Given the description of an element on the screen output the (x, y) to click on. 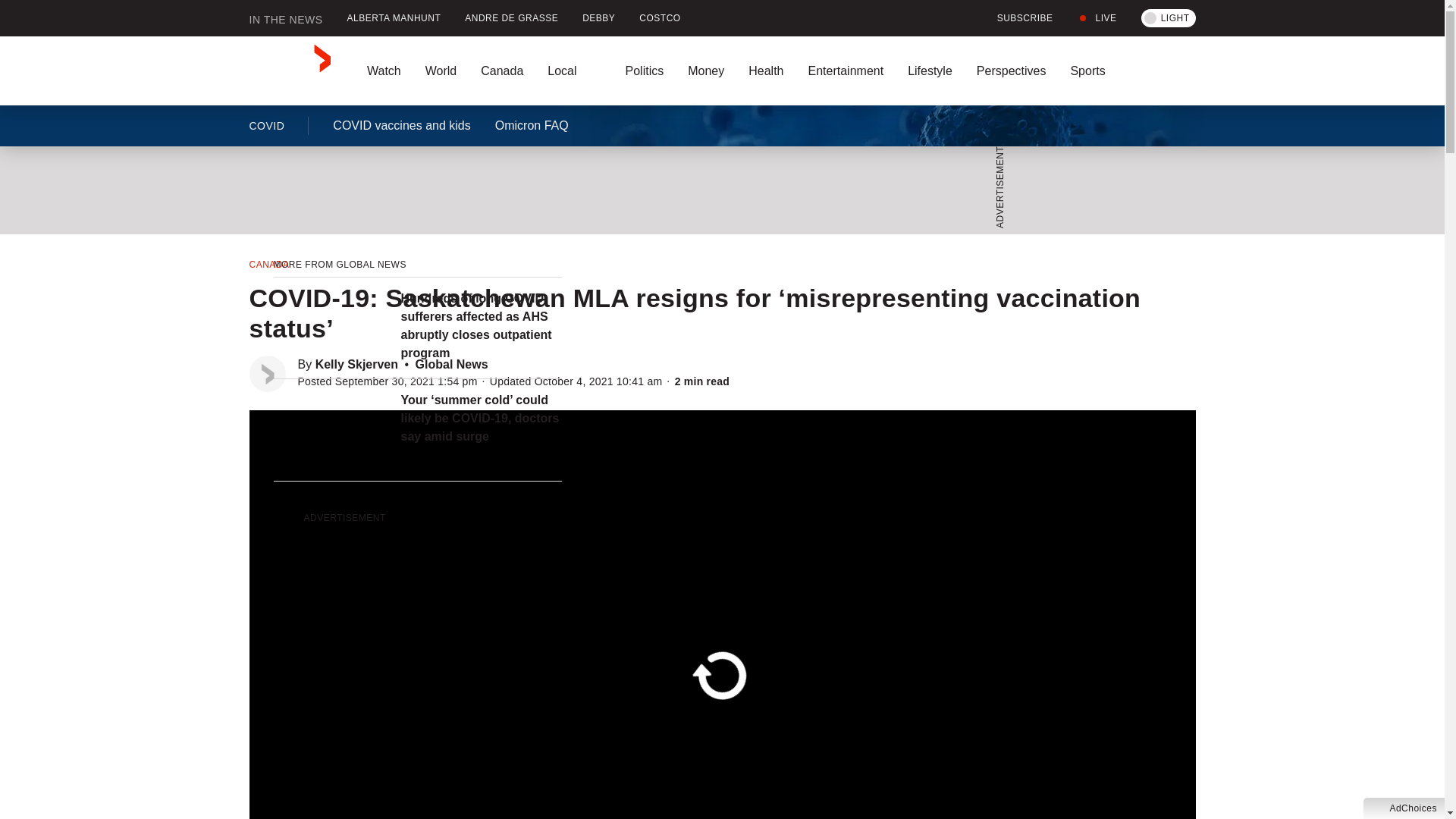
LIVE (1096, 18)
Canada (501, 70)
Local (573, 70)
SUBSCRIBE (1015, 18)
DEBBY (598, 18)
Entertainment (844, 70)
Politics (643, 70)
COSTCO (660, 18)
ANDRE DE GRASSE (511, 18)
